Given the description of an element on the screen output the (x, y) to click on. 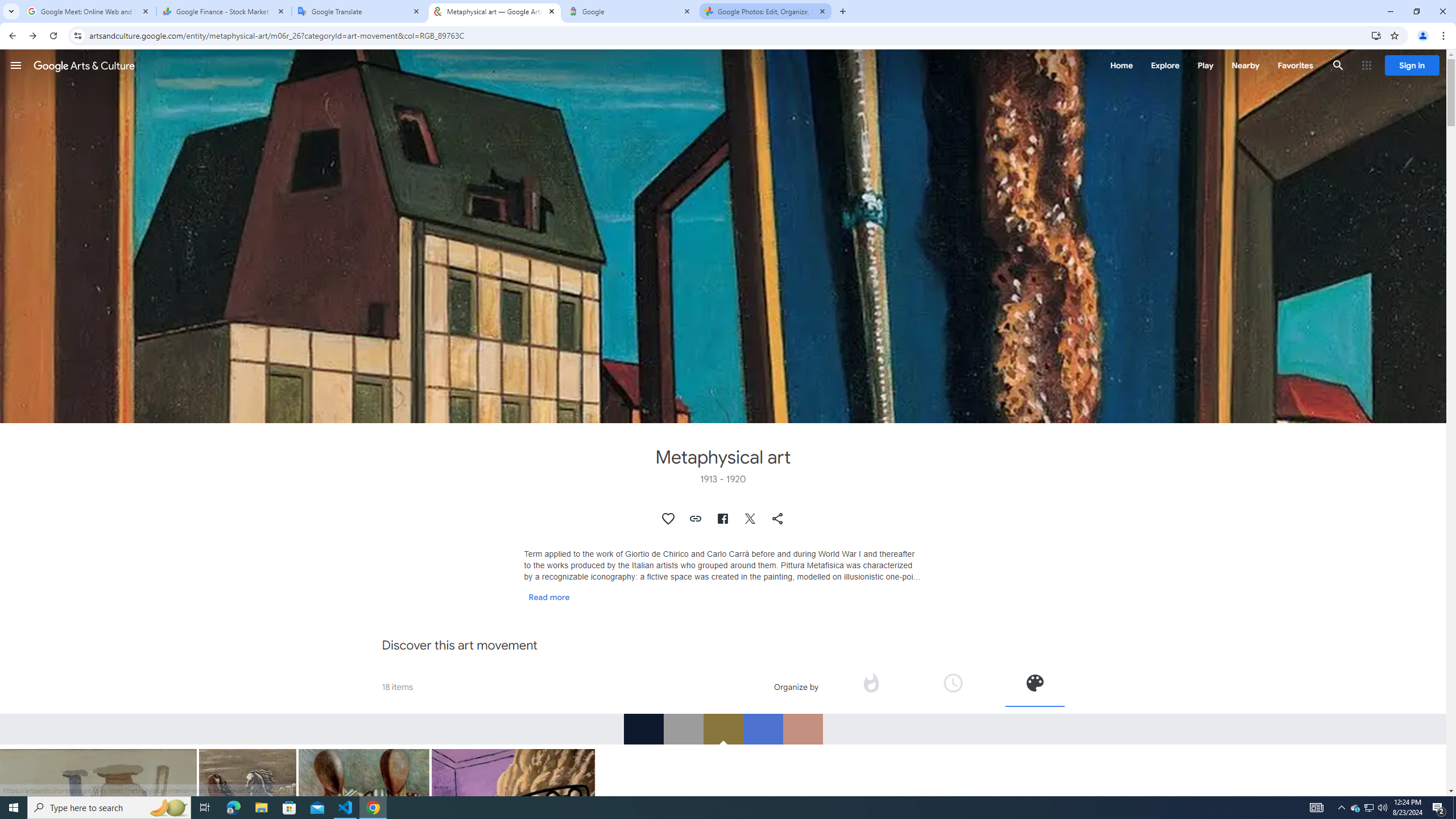
RGB_89763C (723, 728)
Authenticate to favorite this asset. (668, 518)
Google Arts & Culture (84, 65)
Explore (1164, 65)
Share on Twitter (750, 518)
Organize by color (1034, 682)
Read more (549, 596)
Nearby (1244, 65)
Organize by popularity (871, 686)
Organize by time (952, 686)
